Given the description of an element on the screen output the (x, y) to click on. 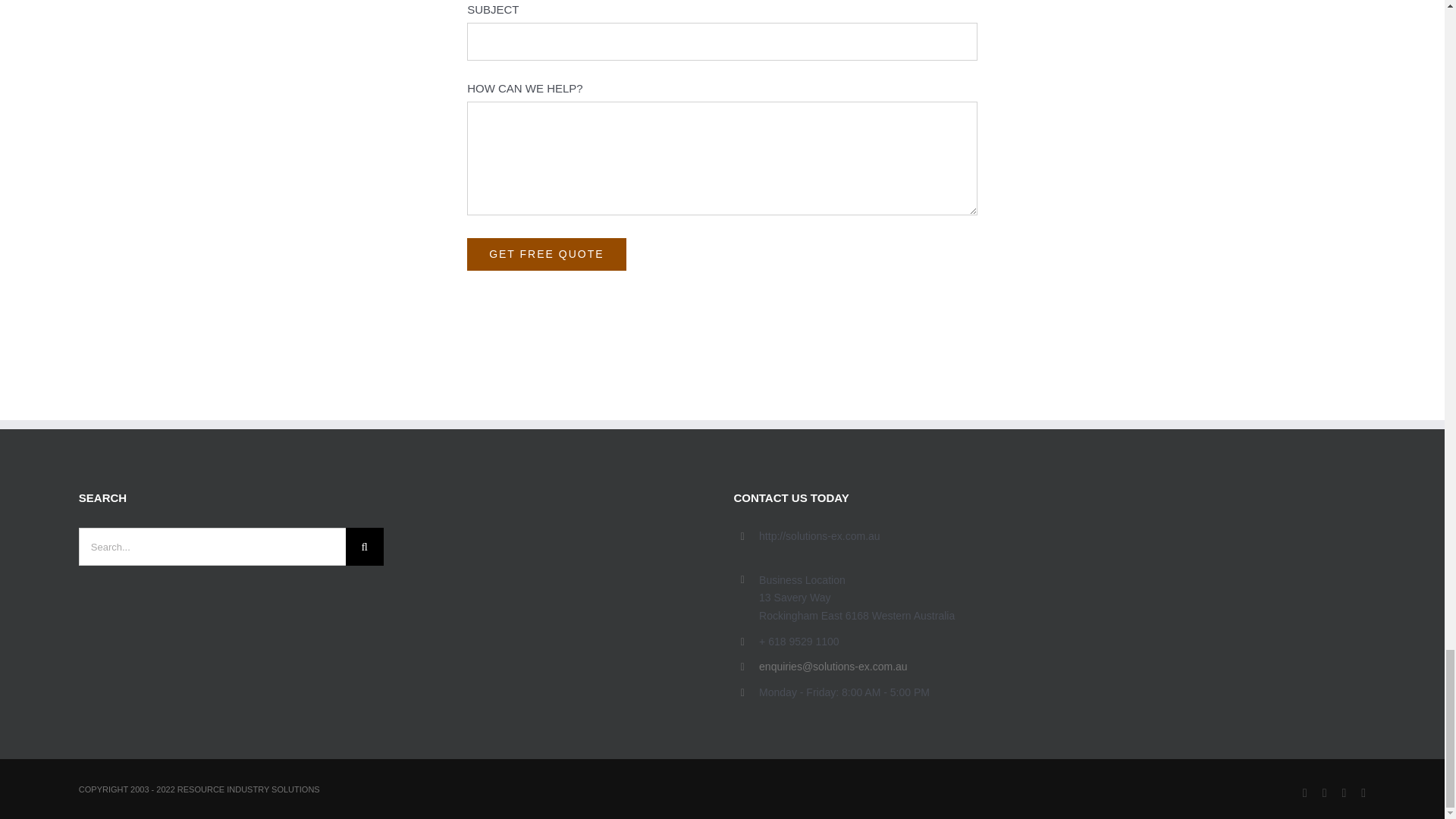
GET FREE QUOTE (546, 254)
GET FREE QUOTE (546, 254)
